Given the description of an element on the screen output the (x, y) to click on. 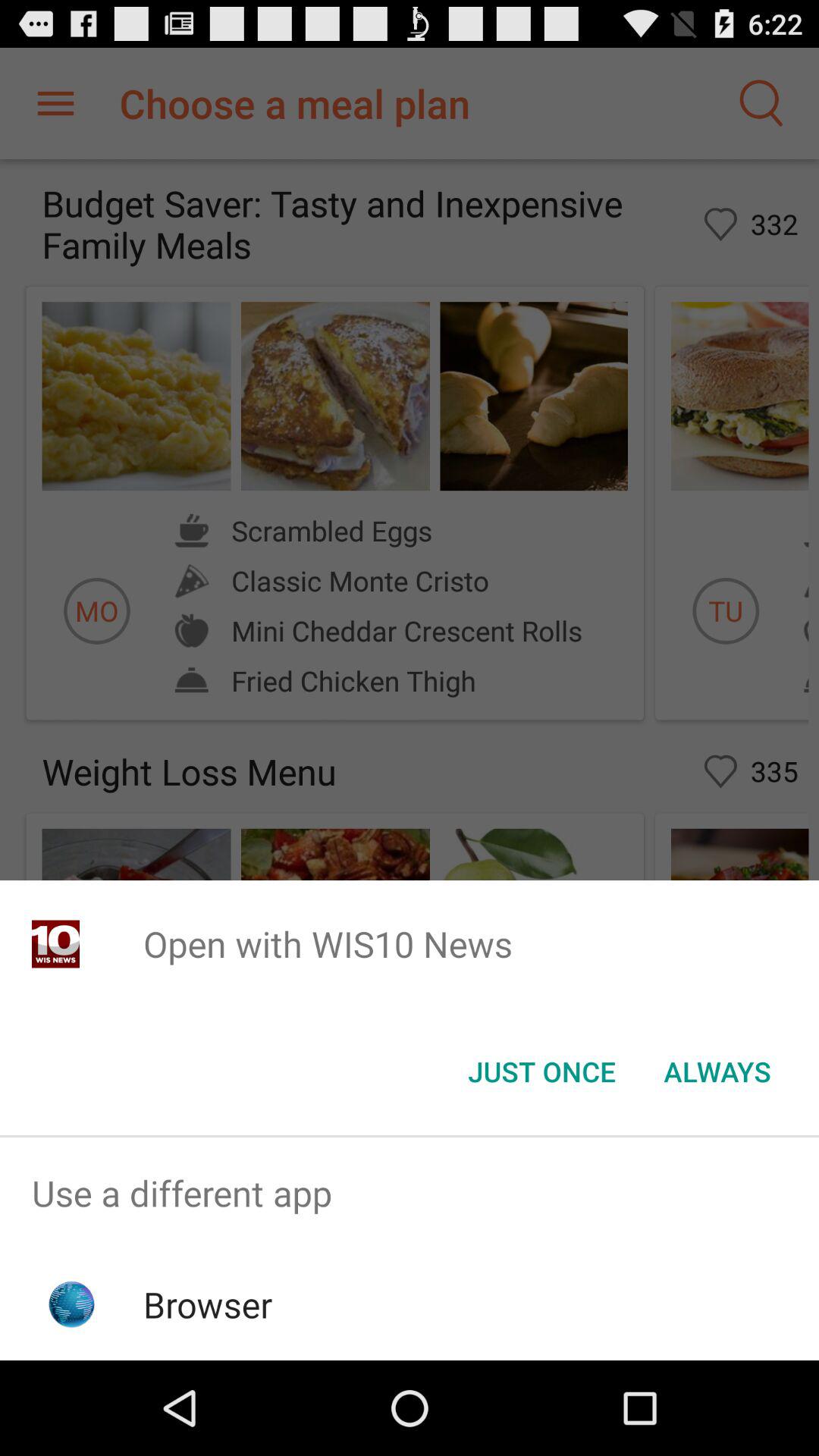
launch the button next to the always item (541, 1071)
